Given the description of an element on the screen output the (x, y) to click on. 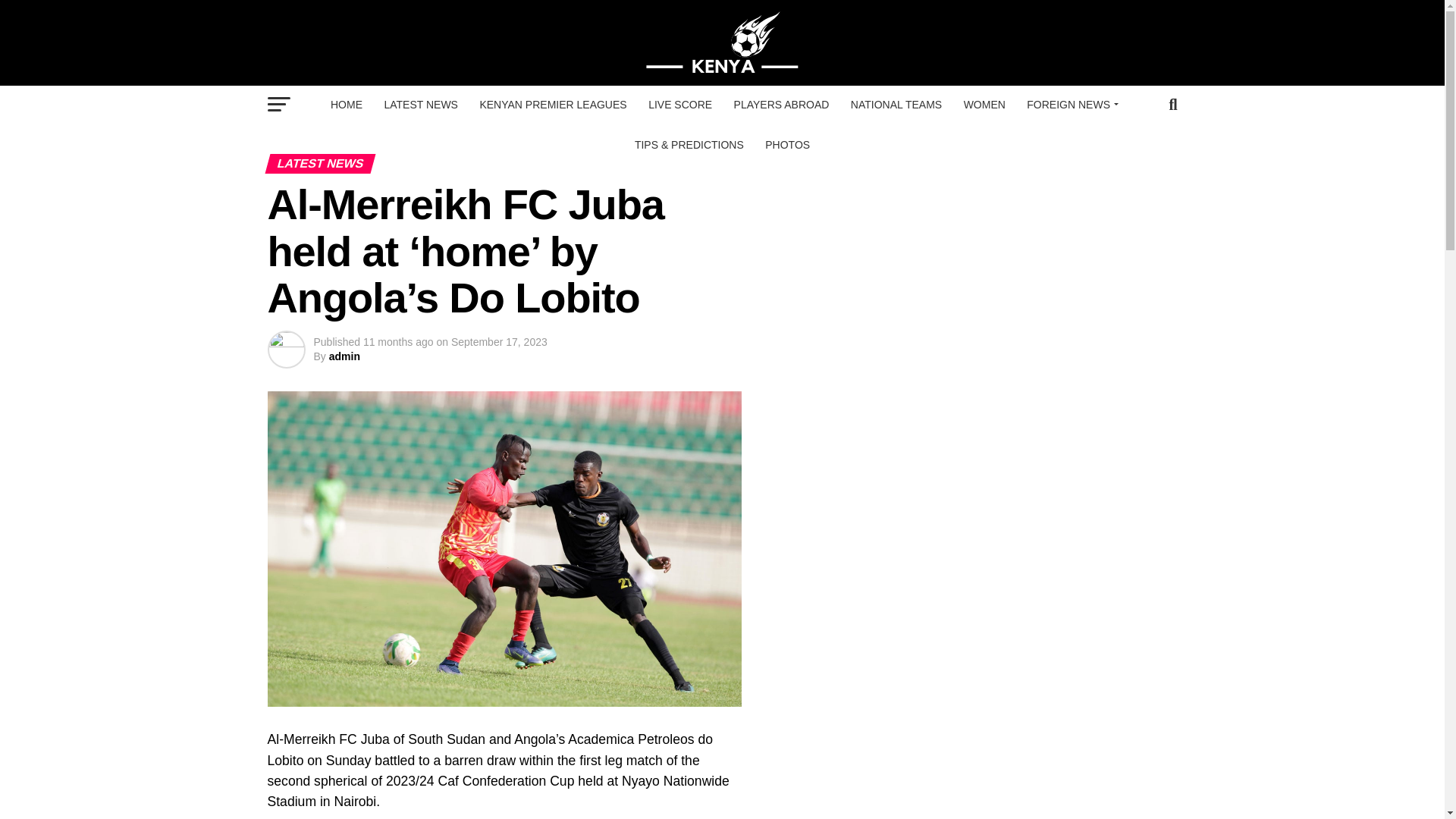
WOMEN (984, 104)
HOME (346, 104)
KENYAN PREMIER LEAGUES (552, 104)
LIVE SCORE (679, 104)
FOREIGN NEWS (1069, 104)
NATIONAL TEAMS (895, 104)
LATEST NEWS (420, 104)
PLAYERS ABROAD (781, 104)
